Given the description of an element on the screen output the (x, y) to click on. 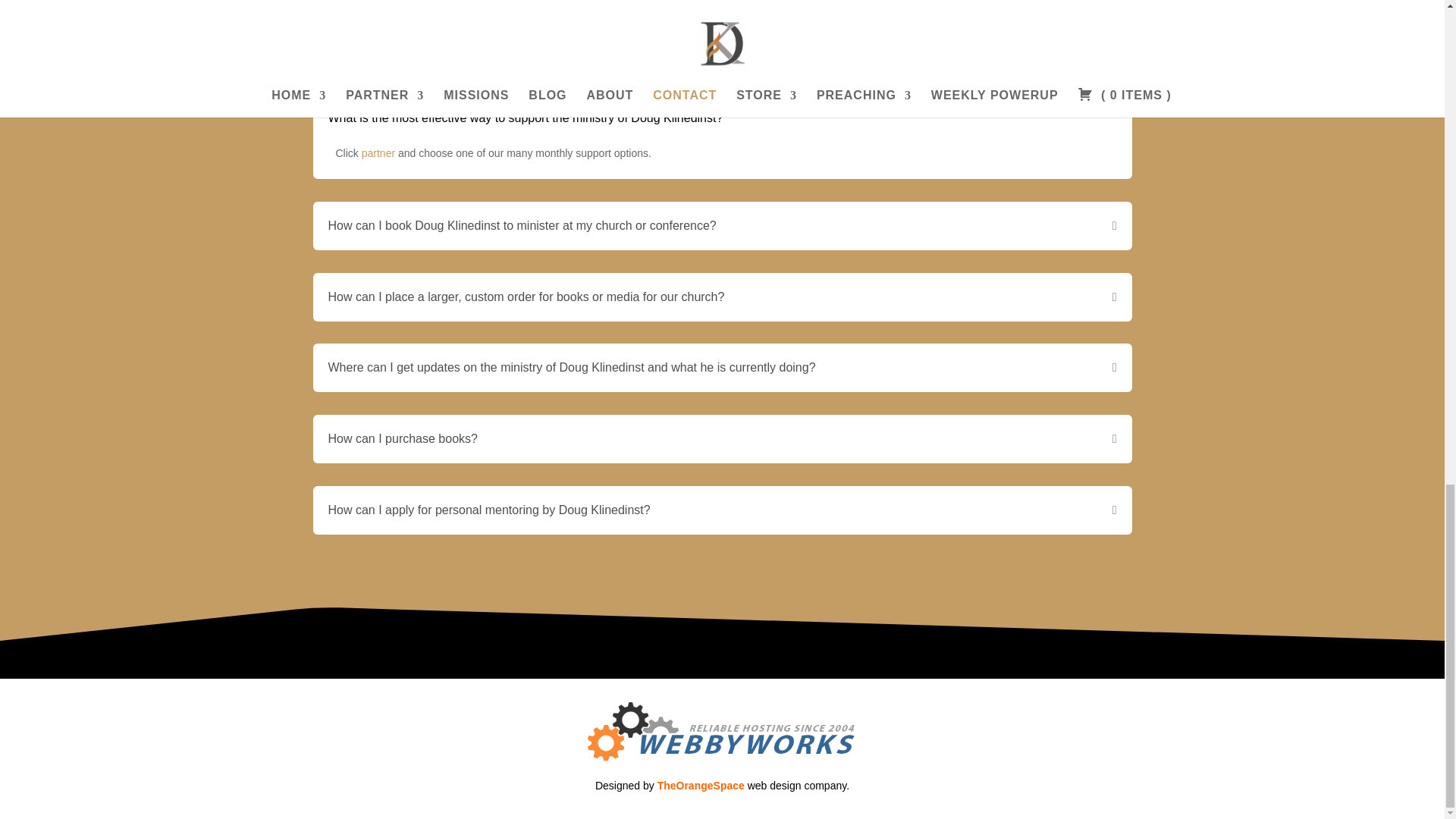
desktopLogo.d150754ce861acd3df12369e1324924d (722, 732)
